Given the description of an element on the screen output the (x, y) to click on. 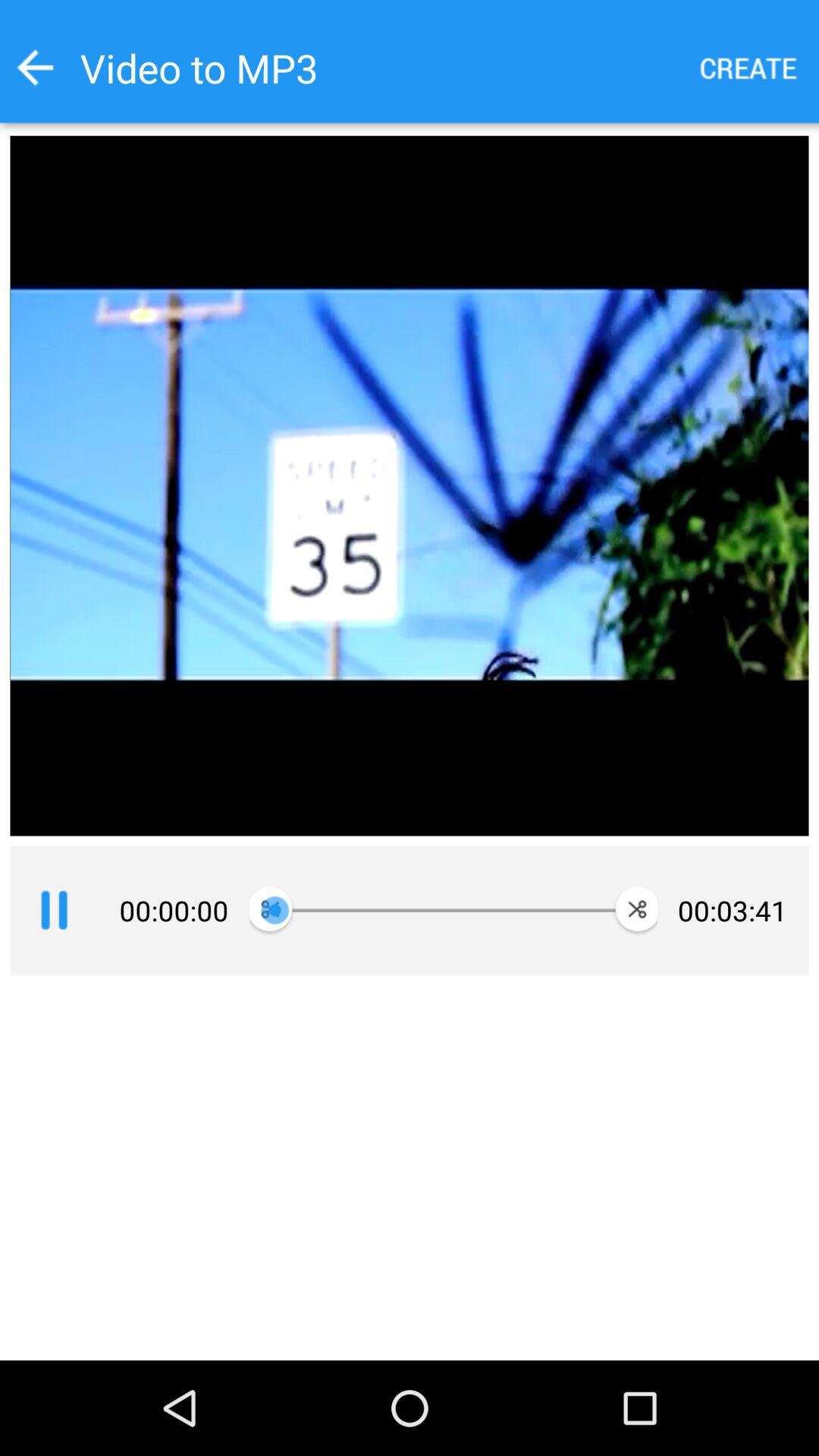
pause video (54, 910)
